Given the description of an element on the screen output the (x, y) to click on. 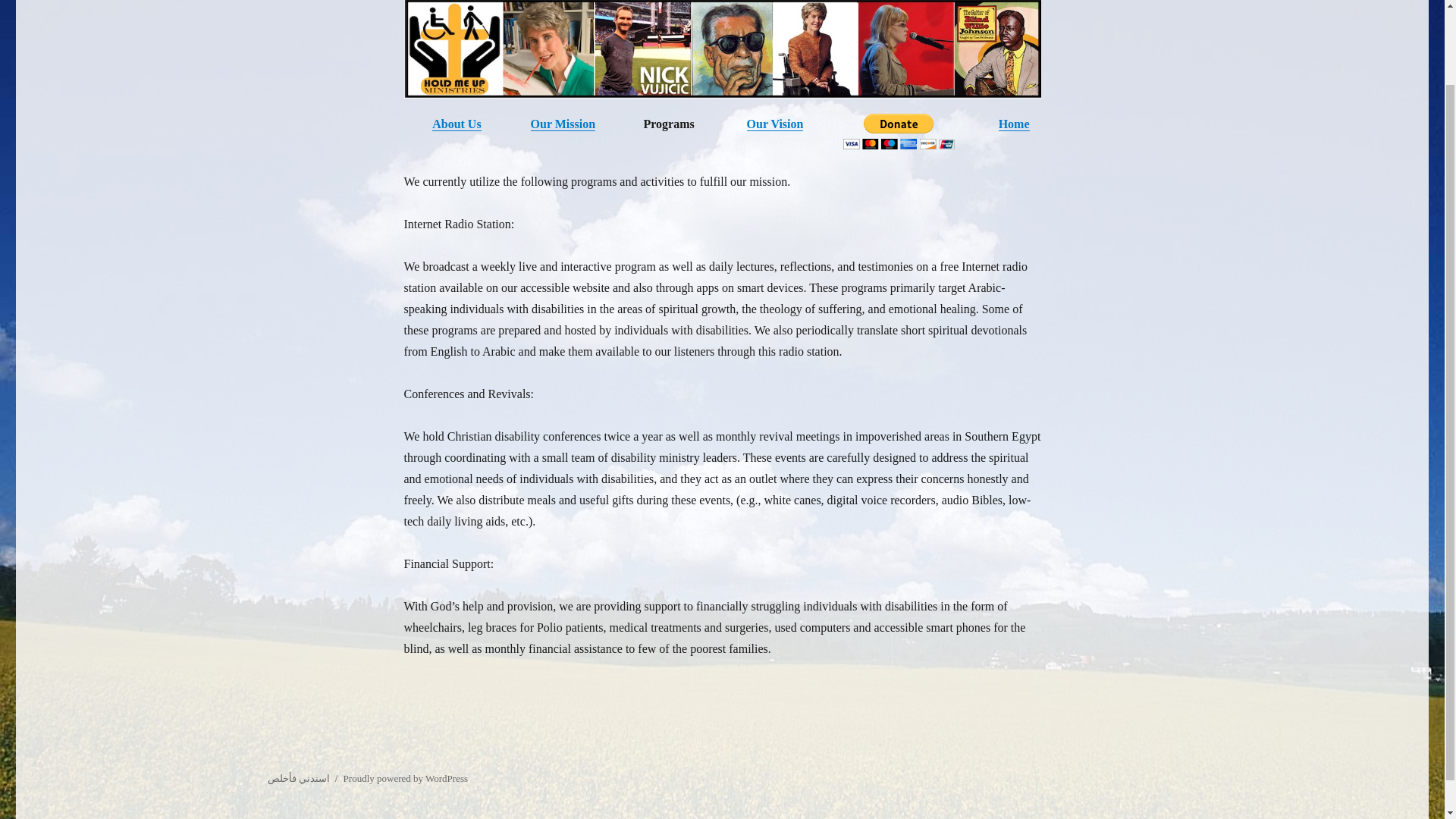
PayPal - The safer, easier way to pay online! (899, 131)
Our Mission (563, 123)
Proudly powered by WordPress (405, 778)
About Us (456, 123)
Our Vision (774, 123)
Home (1013, 123)
